Given the description of an element on the screen output the (x, y) to click on. 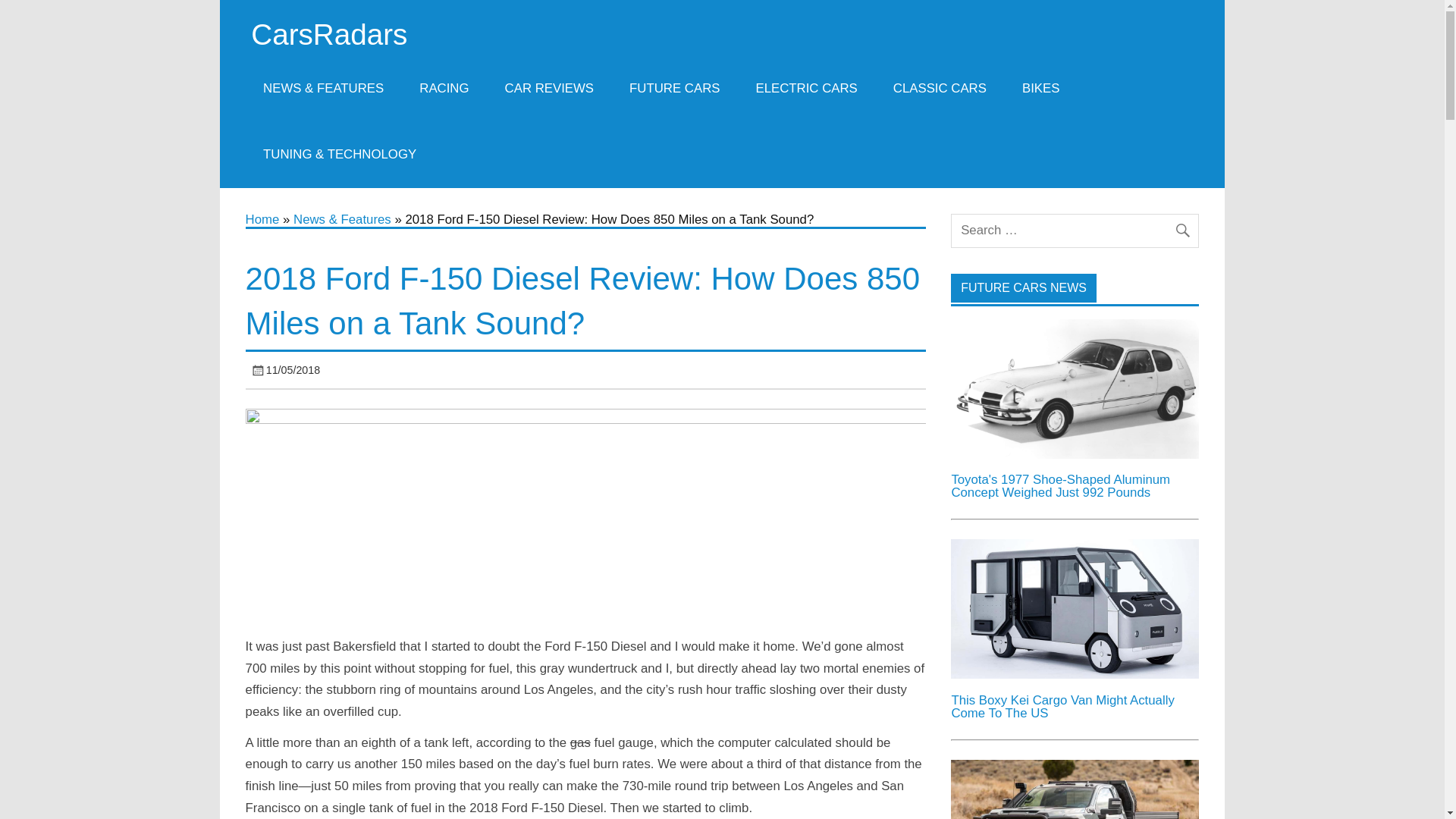
RACING (443, 88)
ELECTRIC CARS (806, 88)
This Boxy Kei Cargo Van Might Actually Come To The US (1074, 674)
CarsRadars (328, 34)
7:49 pm (293, 369)
This Boxy Kei Cargo Van Might Actually Come To The US (1074, 608)
Home (262, 219)
This Boxy Kei Cargo Van Might Actually Come To The US (1061, 706)
CLASSIC CARS (939, 88)
